Given the description of an element on the screen output the (x, y) to click on. 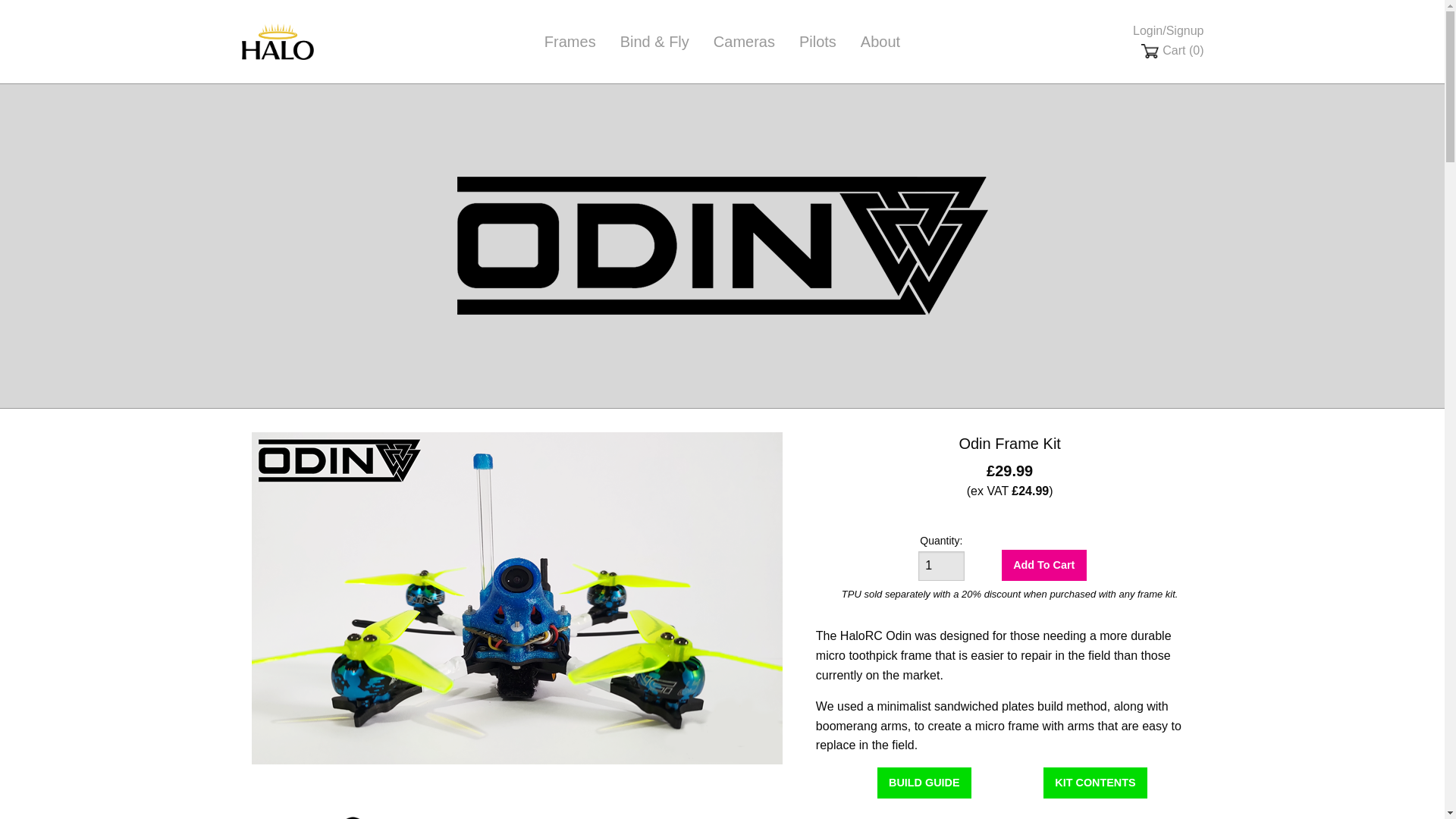
BUILD GUIDE (924, 782)
KIT CONTENTS (1095, 782)
PayPal Message 1 (1009, 519)
About (880, 41)
Add To Cart (1043, 564)
Pilots (817, 41)
1 (940, 565)
KIT CONTENTS (1095, 788)
Frames (570, 41)
Cameras (744, 41)
